Given the description of an element on the screen output the (x, y) to click on. 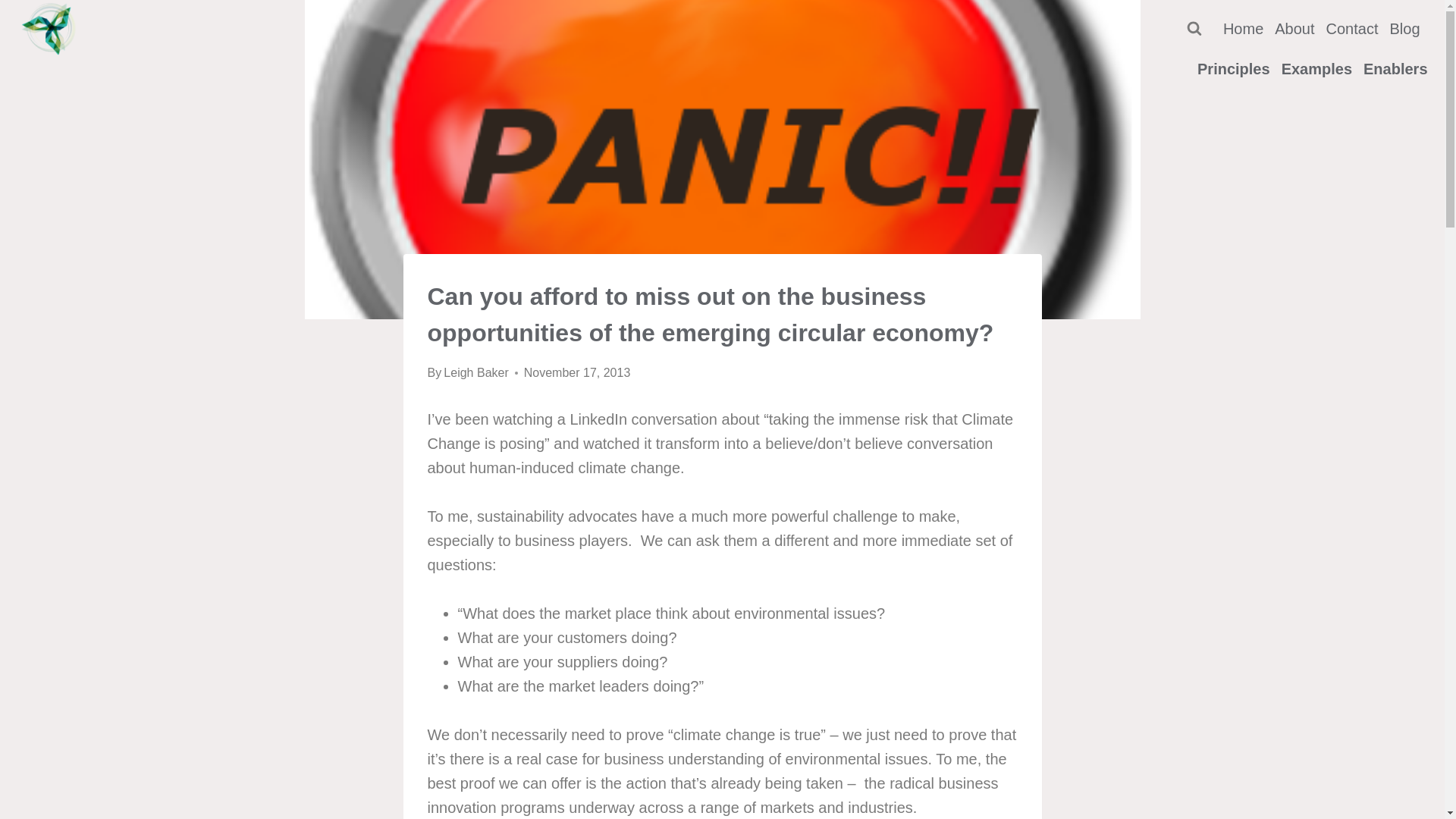
Examples Element type: text (1316, 68)
About Element type: text (1294, 28)
Leigh Baker Element type: text (475, 372)
Home Element type: text (1242, 28)
Principles Element type: text (1234, 68)
Enablers Element type: text (1395, 68)
Blog Element type: text (1404, 28)
Contact Element type: text (1351, 28)
